Given the description of an element on the screen output the (x, y) to click on. 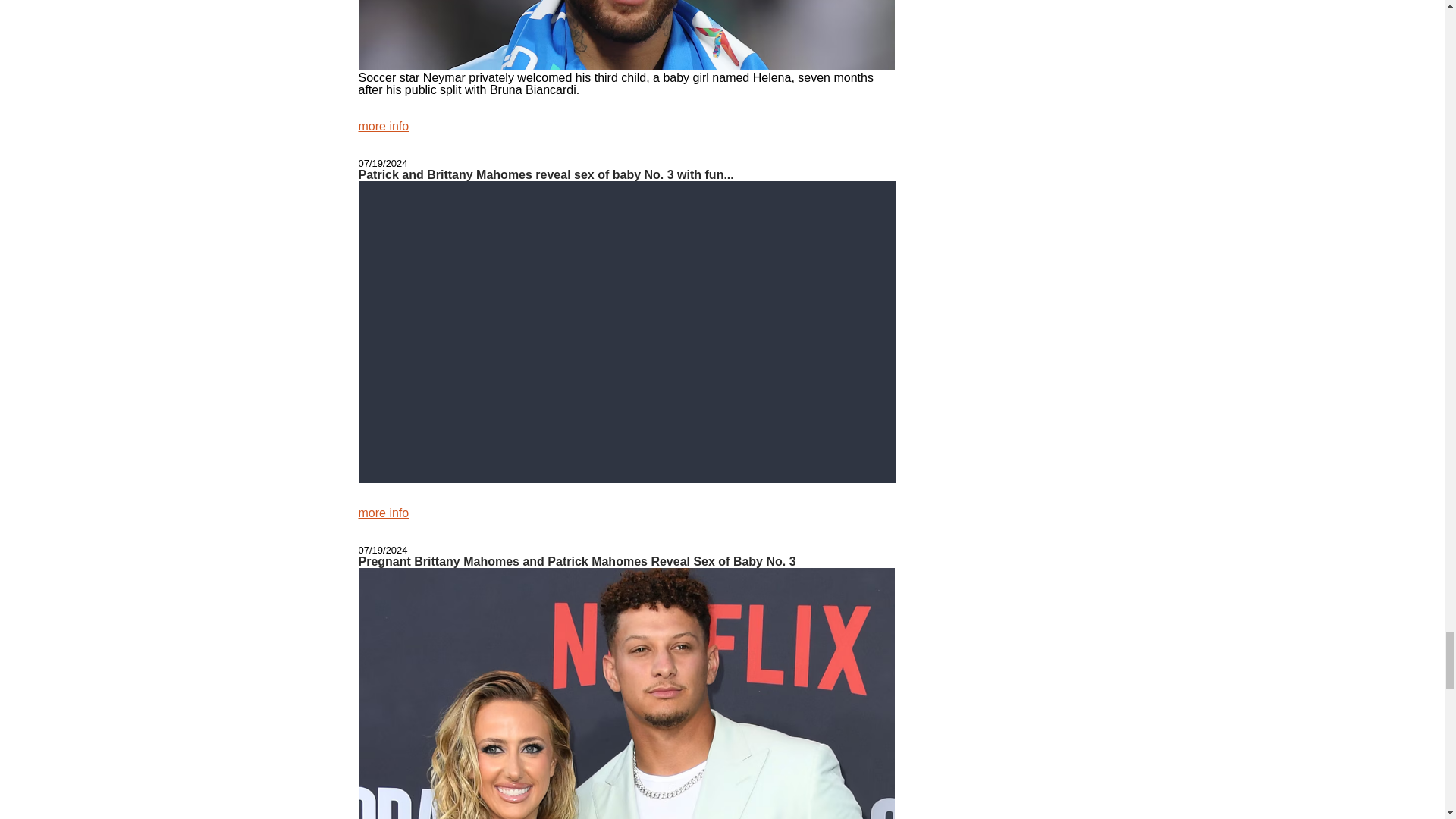
more info (383, 512)
more info (383, 125)
